Given the description of an element on the screen output the (x, y) to click on. 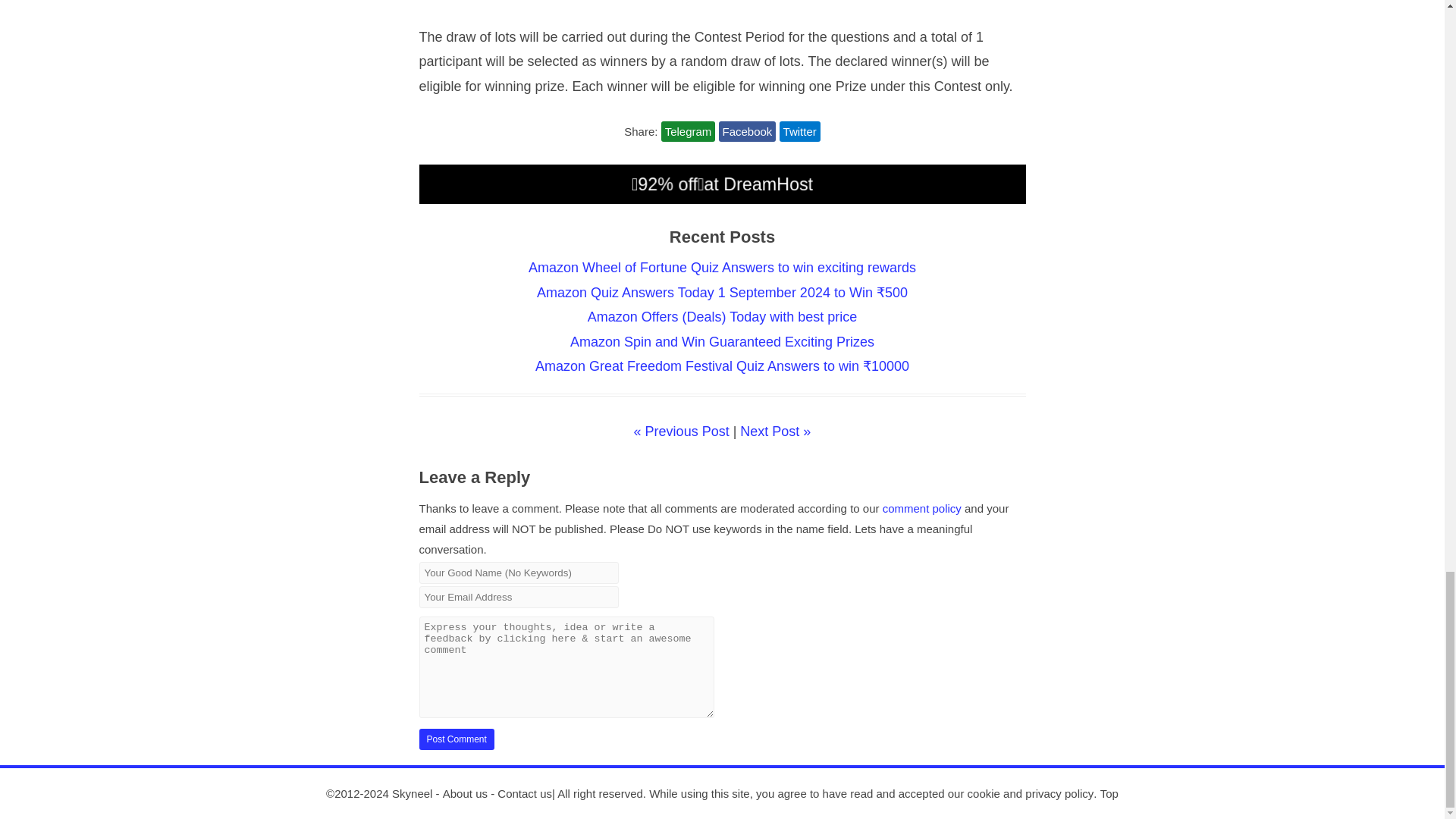
Top (1109, 793)
Amazon Wheel of Fortune Quiz Answers to win exciting rewards (721, 267)
Contact us (524, 793)
Skyneel (411, 793)
Share on Facebook (747, 131)
Facebook (747, 131)
Skyneel (411, 793)
About us (464, 793)
Comment Policy (921, 508)
comment policy (921, 508)
